Given the description of an element on the screen output the (x, y) to click on. 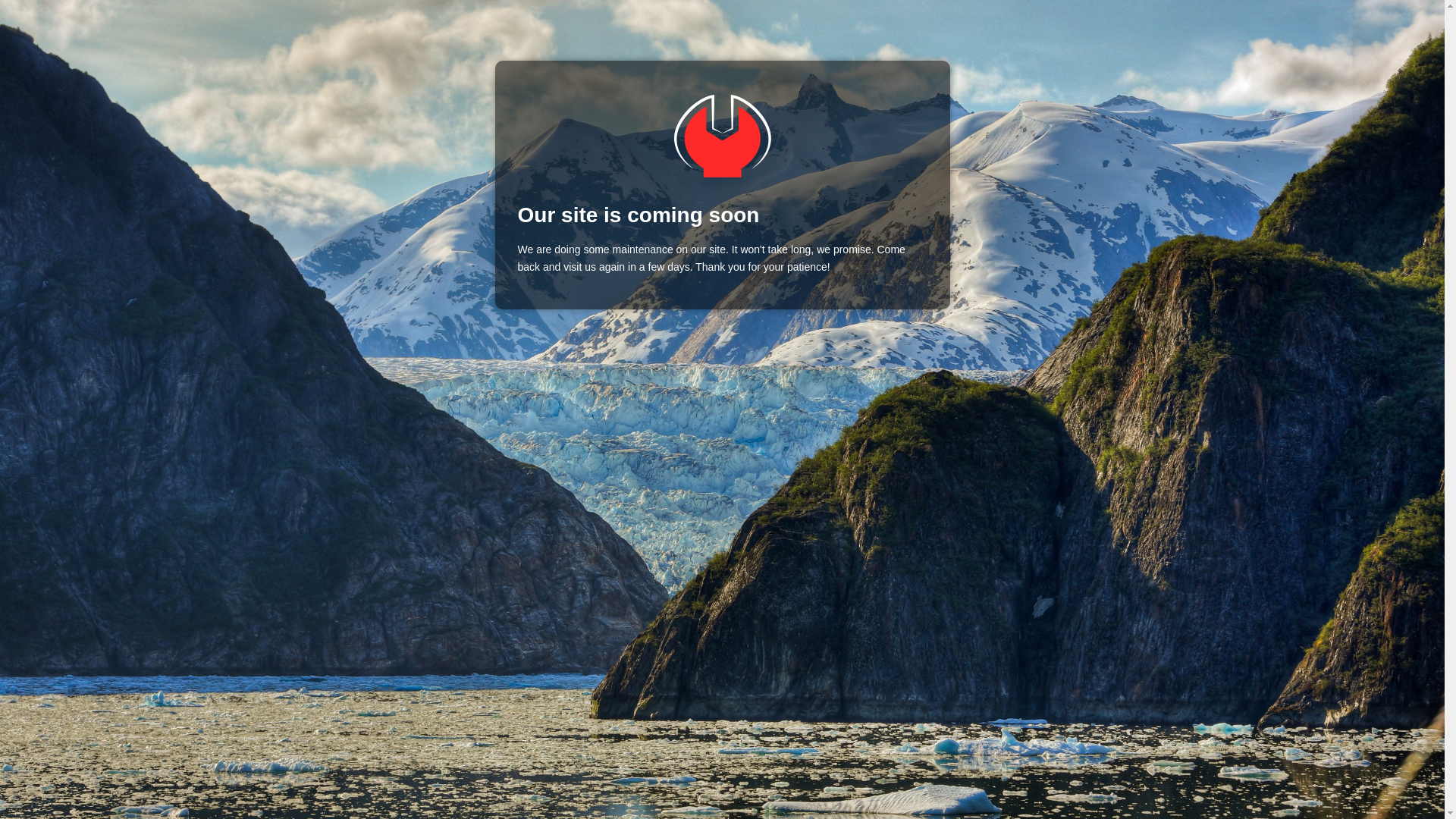
Autovista24 (721, 136)
